Given the description of an element on the screen output the (x, y) to click on. 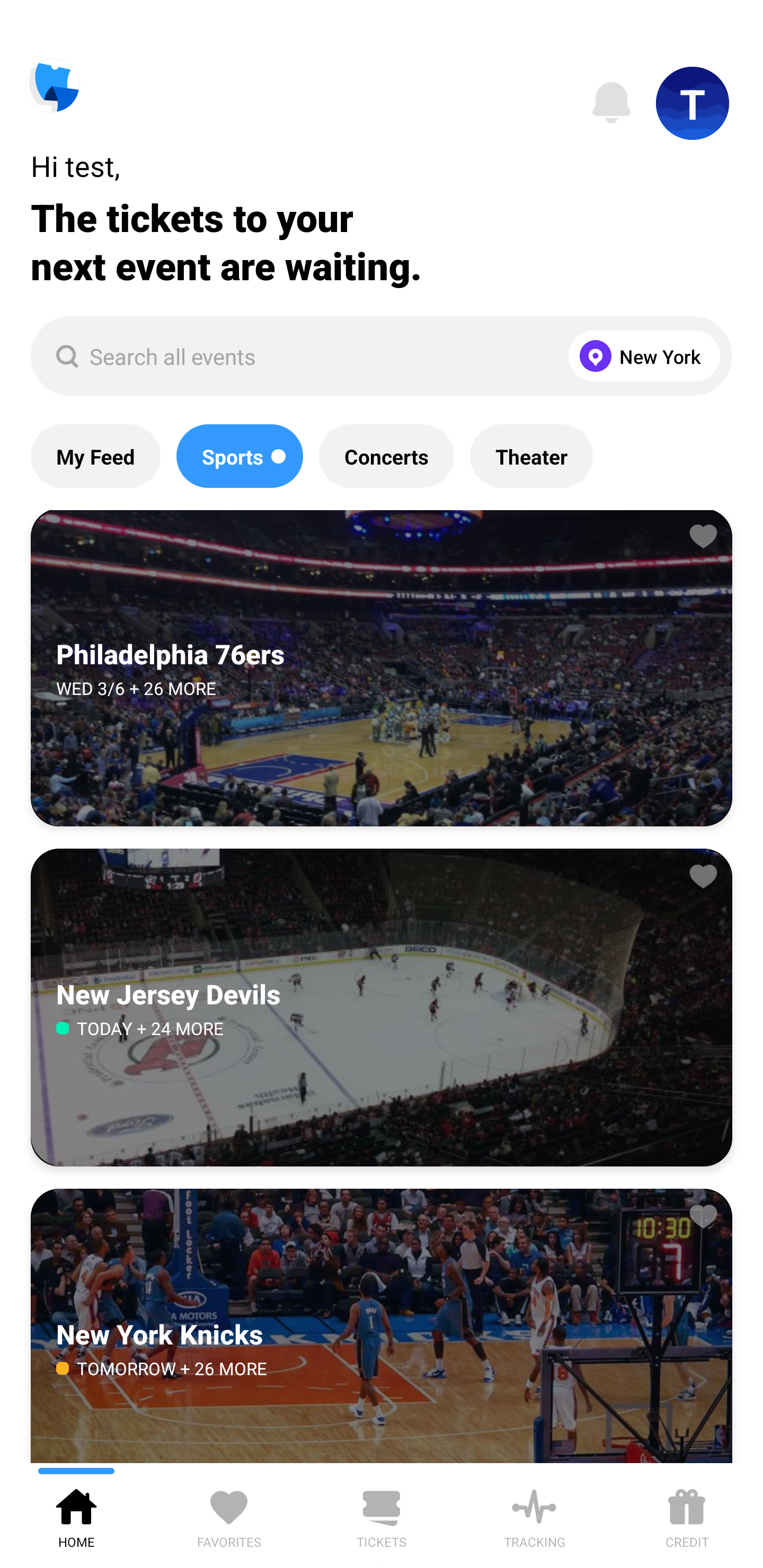
T (692, 103)
New York (640, 355)
My Feed (95, 455)
Sports (239, 455)
Concerts (385, 455)
Theater (531, 455)
HOME (76, 1515)
FAVORITES (228, 1515)
TICKETS (381, 1515)
TRACKING (533, 1515)
CREDIT (686, 1515)
